Given the description of an element on the screen output the (x, y) to click on. 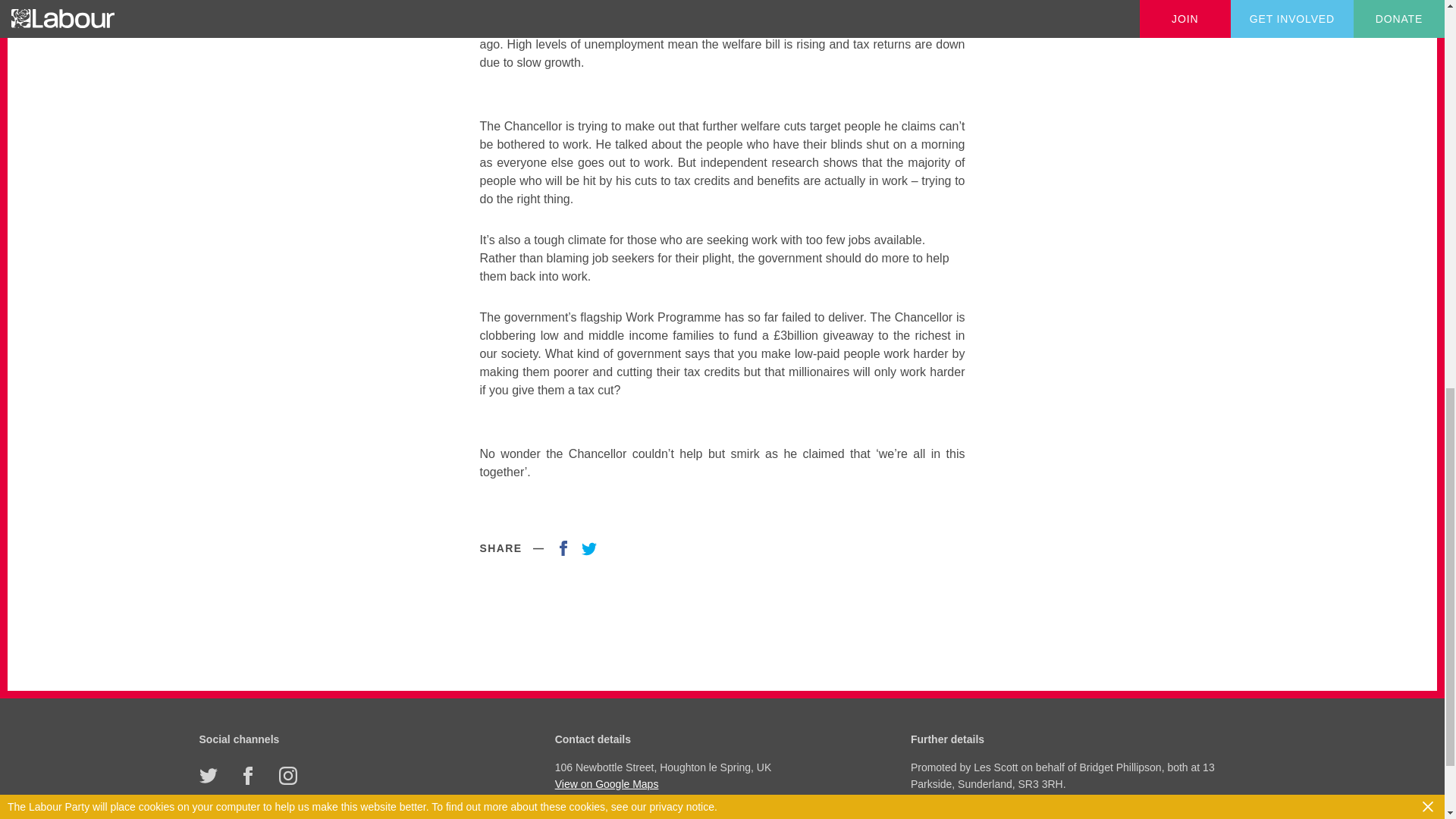
View on Google Maps (719, 783)
